Given the description of an element on the screen output the (x, y) to click on. 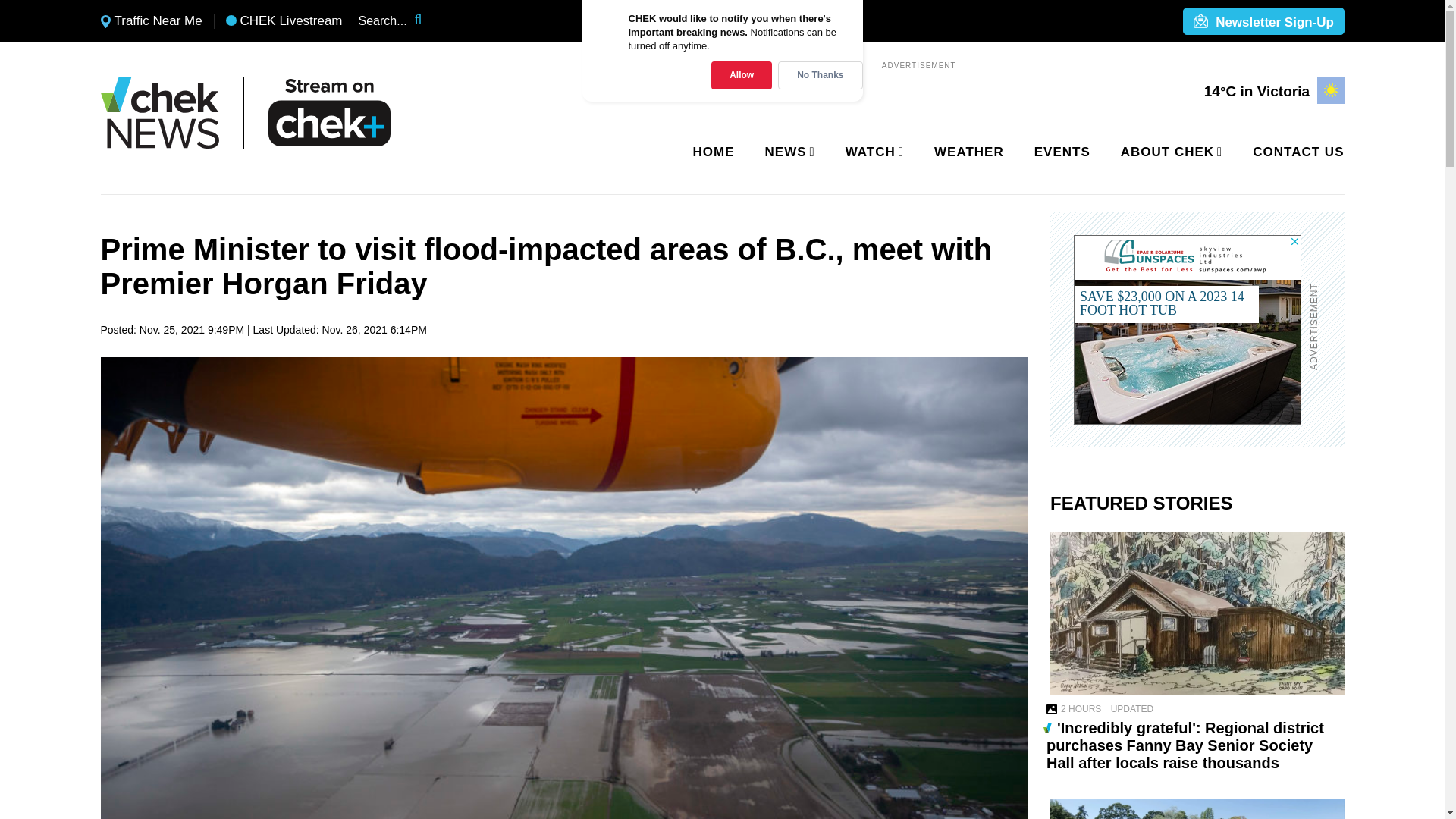
Newsletter Sign-Up (1262, 22)
Traffic Near Me (151, 20)
CHEK Livestream (283, 20)
3rd party ad content (1187, 330)
Search (428, 21)
HOME (714, 152)
NEWS (787, 152)
